Given the description of an element on the screen output the (x, y) to click on. 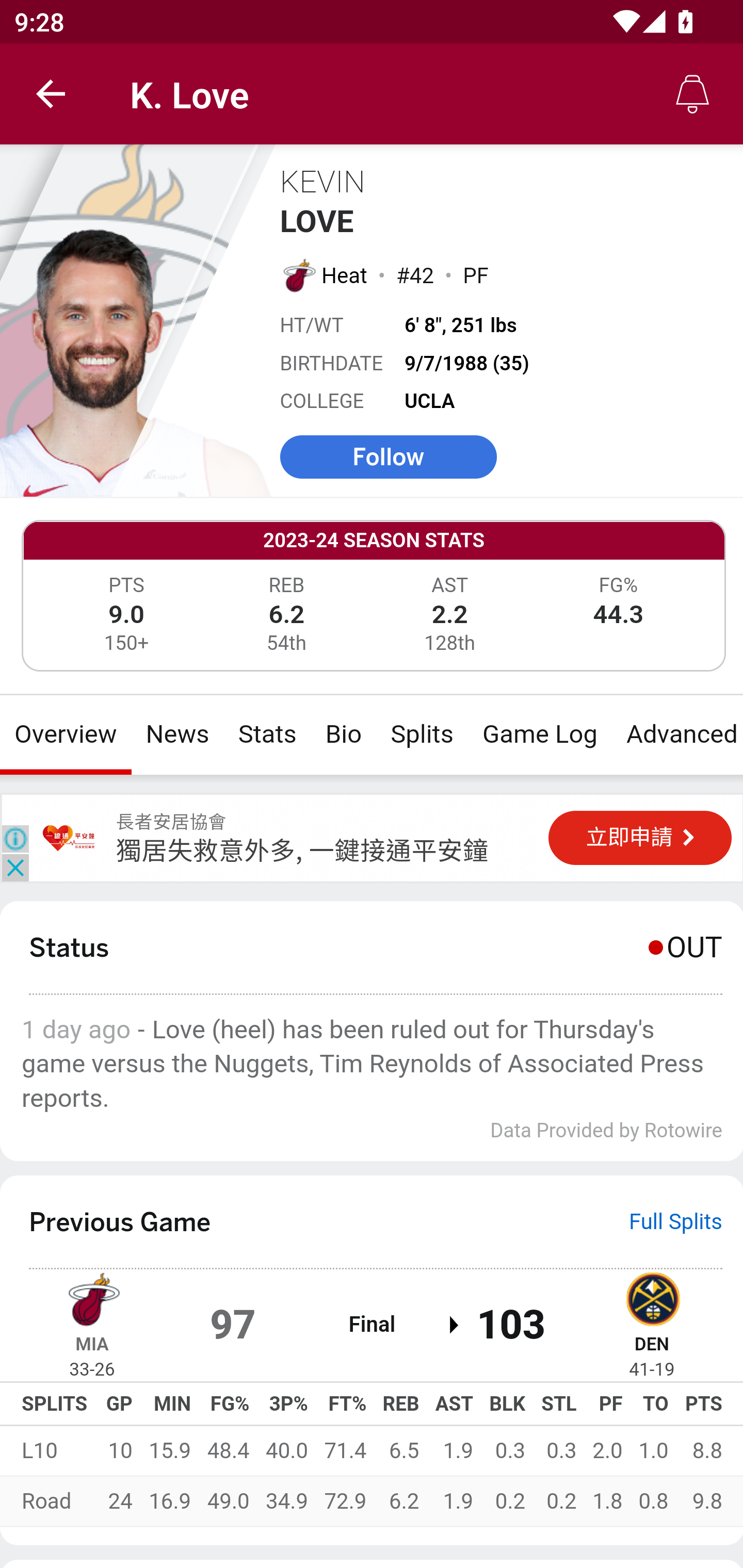
back.button (50, 93)
Alerts (692, 93)
Miami Heat (297, 274)
Heat (344, 274)
UCLA (430, 401)
Follow (387, 455)
Overview (65, 734)
News (177, 734)
Stats (267, 734)
Bio (343, 734)
Splits (422, 734)
Game Log (538, 734)
Advanced Stats (676, 734)
長者安居協會 (69, 837)
立即申請 (639, 838)
長者安居協會 (171, 822)
獨居失救意外多, 一鍵接通平安鐘 (301, 849)
Full Splits (675, 1221)
Miami Heat (91, 1297)
Denver Nuggets (651, 1297)
